Given the description of an element on the screen output the (x, y) to click on. 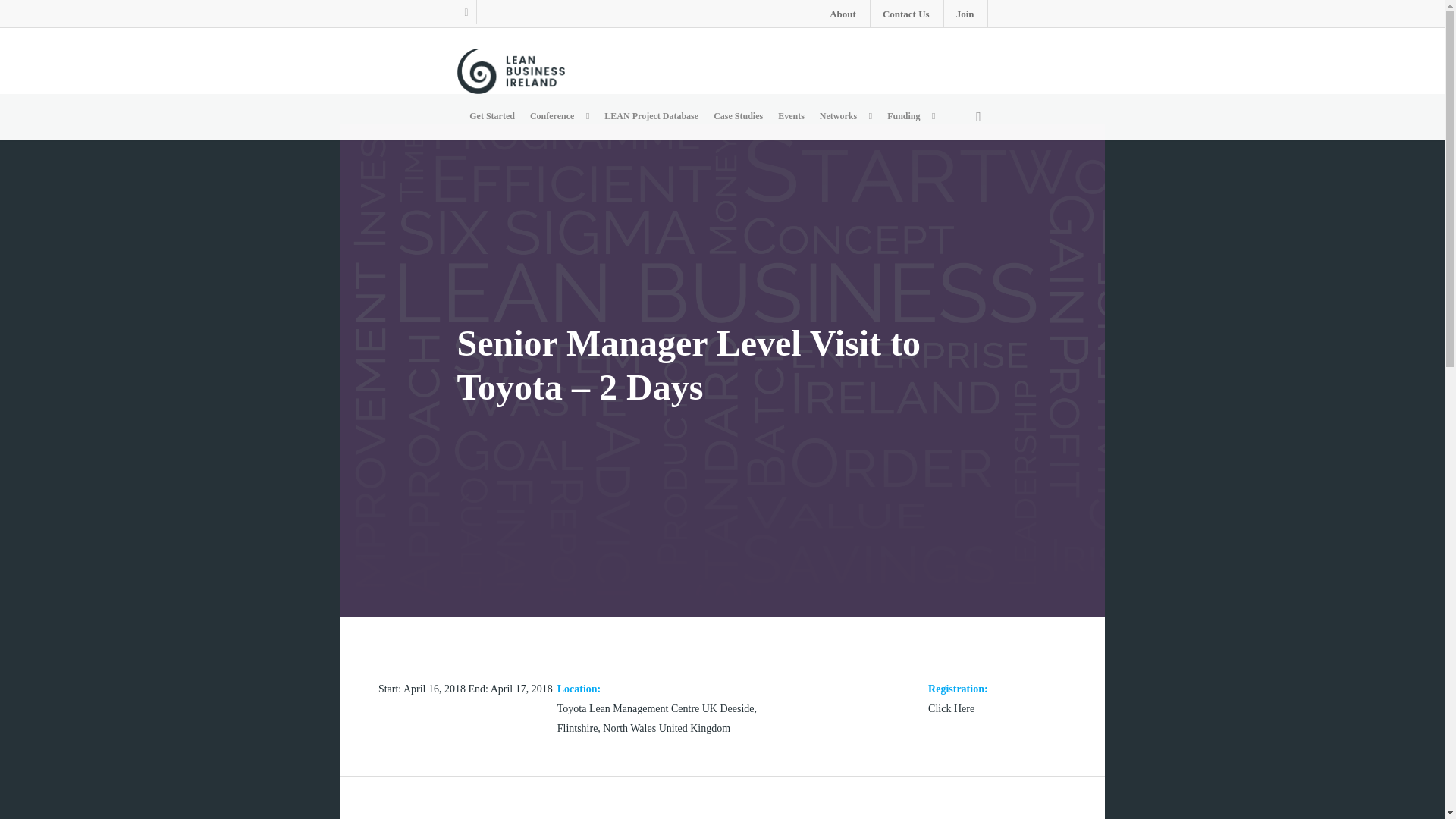
Click Here (951, 708)
Conference (559, 116)
2018-04-17 (521, 688)
Contact Us (905, 13)
About (841, 13)
Join (965, 13)
2018-04-16 (435, 688)
Get Started (491, 116)
LEAN Project Database (651, 116)
Funding (910, 116)
Case Studies (737, 116)
Networks (845, 116)
